Given the description of an element on the screen output the (x, y) to click on. 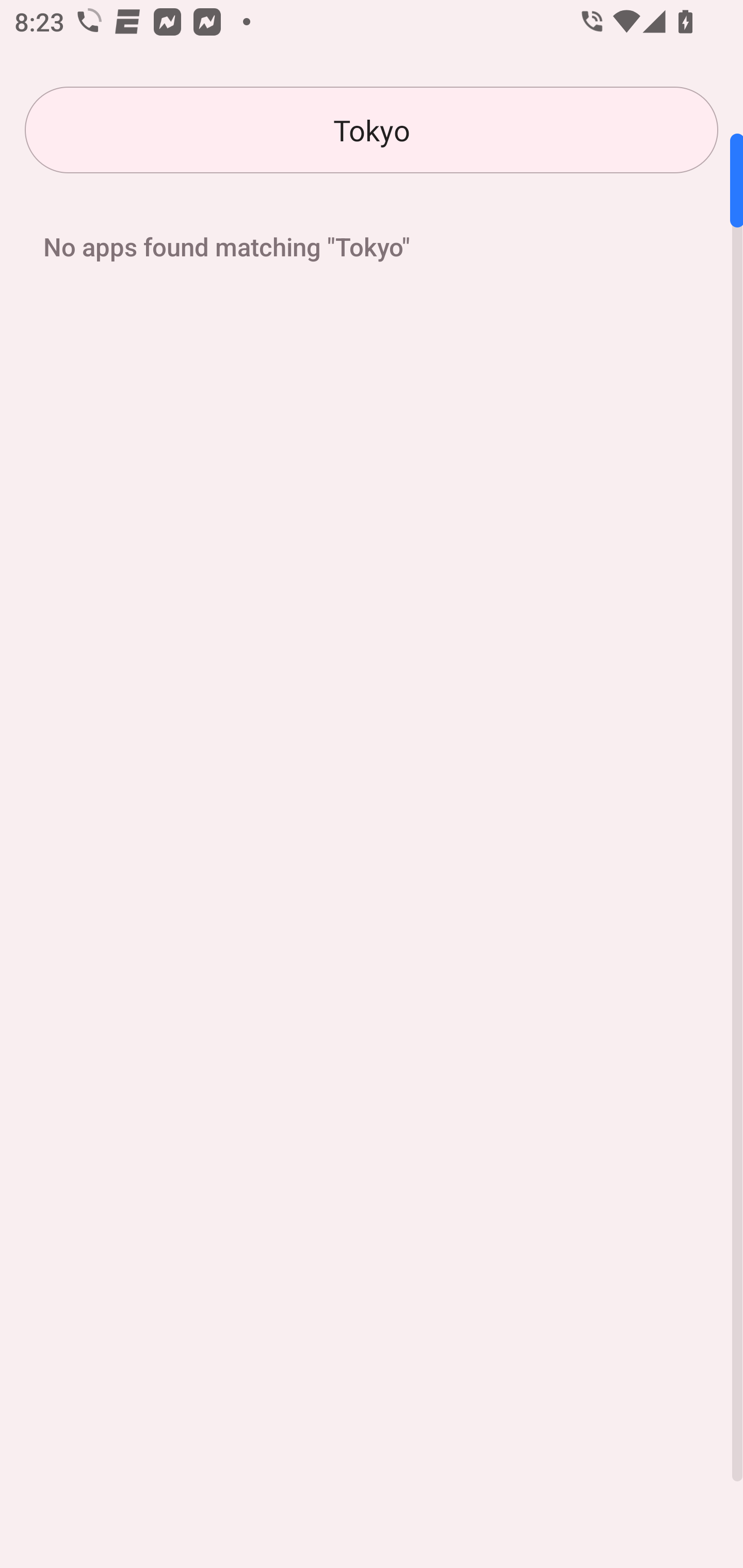
Tokyo (371, 130)
